Given the description of an element on the screen output the (x, y) to click on. 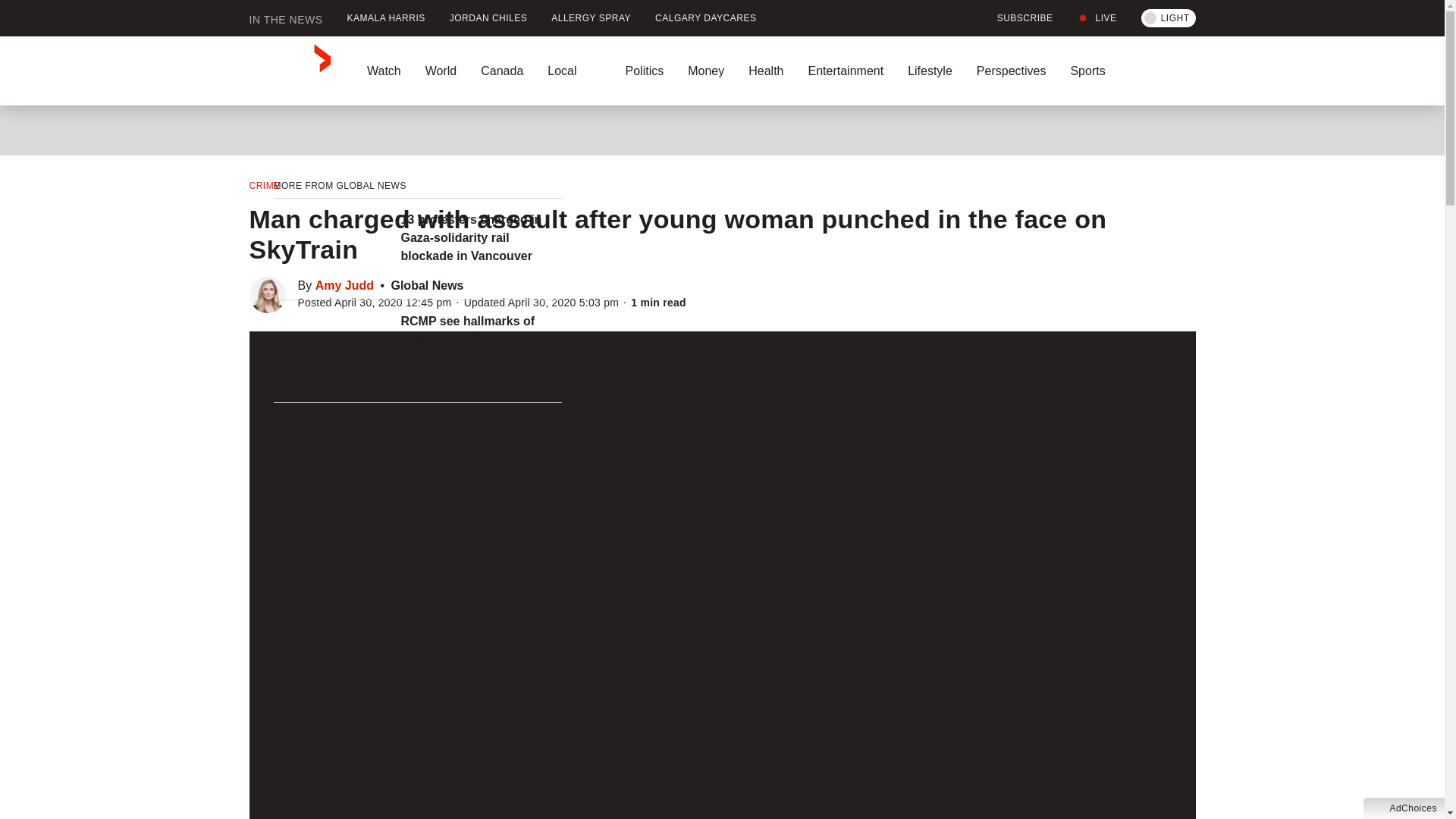
Lifestyle (929, 70)
JORDAN CHILES (489, 18)
ALLERGY SPRAY (590, 18)
LIVE (1096, 18)
SUBSCRIBE (1015, 18)
Canada (501, 70)
GlobalNews home (289, 70)
Posts by Amy Judd (344, 285)
